Given the description of an element on the screen output the (x, y) to click on. 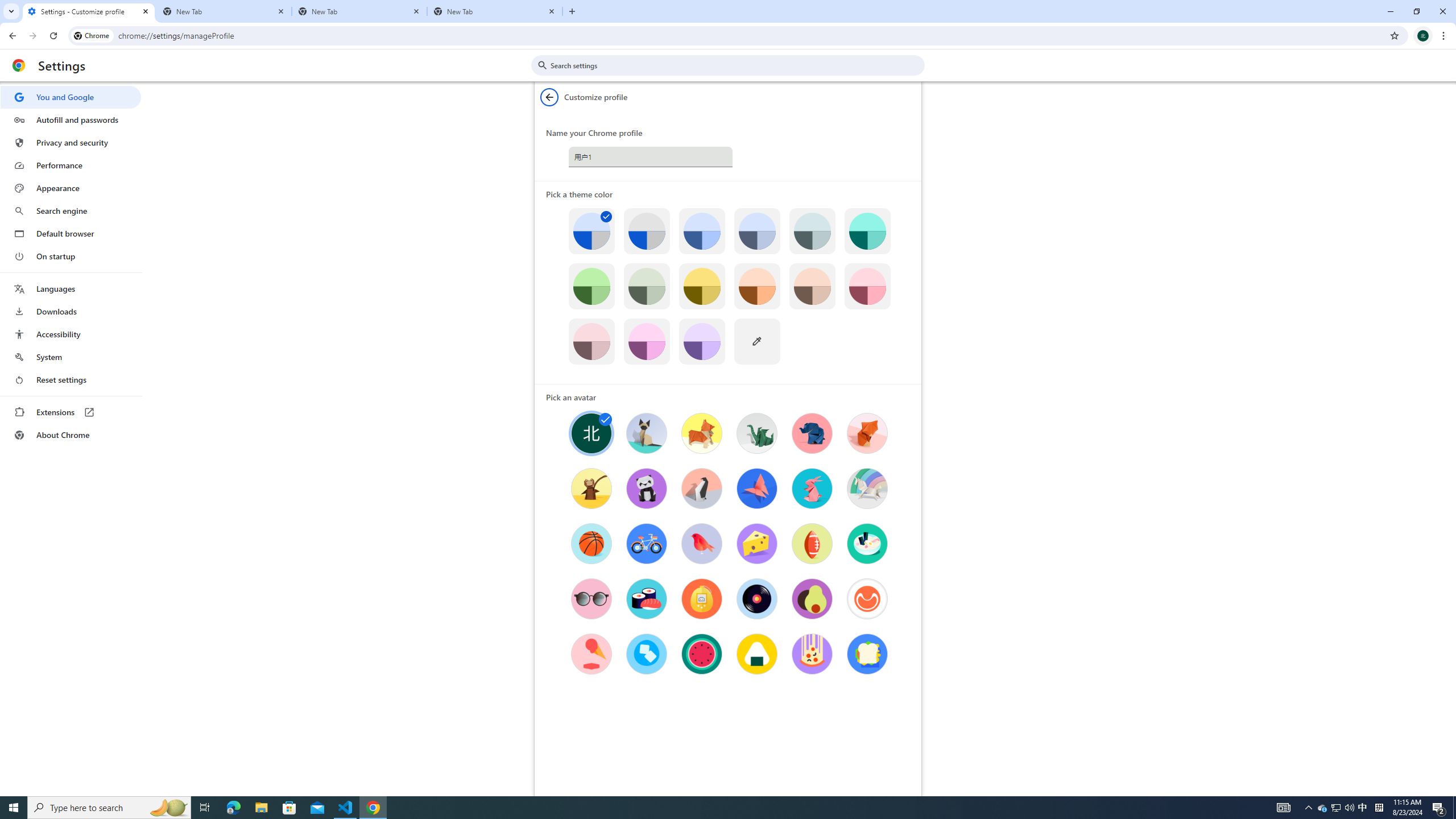
Performance (70, 164)
Autofill and passwords (70, 119)
New Tab (494, 11)
